Given the description of an element on the screen output the (x, y) to click on. 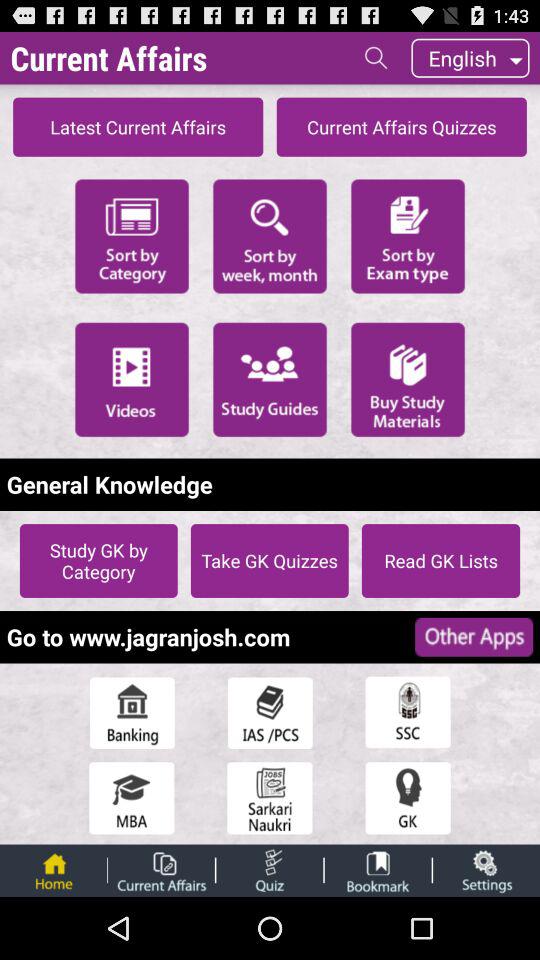
find other apps (474, 636)
